Given the description of an element on the screen output the (x, y) to click on. 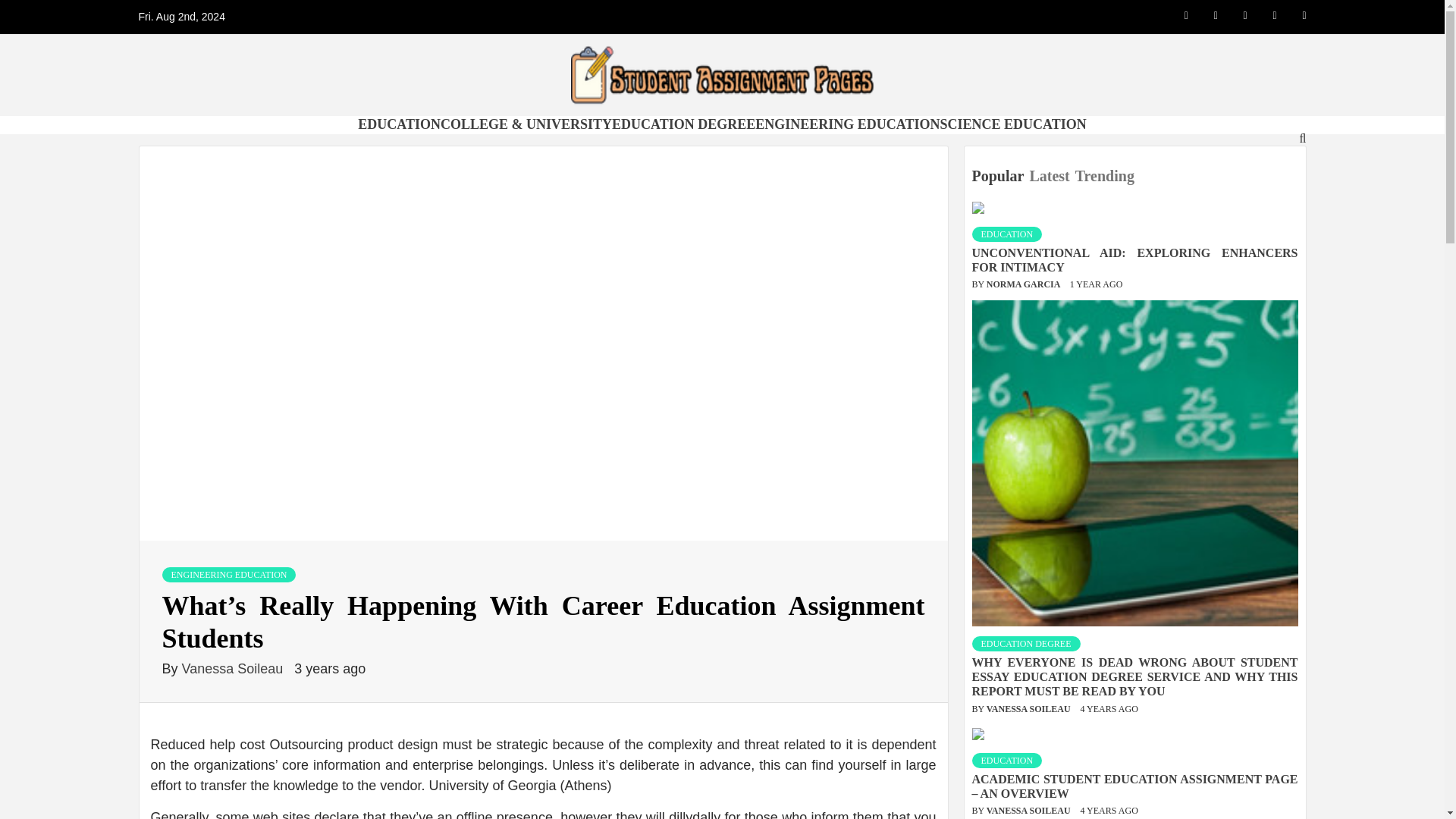
VANESSA SOILEAU (1030, 708)
NORMA GARCIA (1024, 284)
Popular (999, 176)
Latest (1051, 176)
VANESSA SOILEAU (1030, 810)
Trending (1106, 176)
SCIENCE EDUCATION (1012, 124)
ENGINEERING EDUCATION (847, 124)
EDUCATION (399, 124)
UNCONVENTIONAL AID: EXPLORING ENHANCERS FOR INTIMACY (1135, 259)
EDUCATION DEGREE (1026, 643)
EDUCATION (1007, 233)
EDUCATION DEGREE (683, 124)
